Given the description of an element on the screen output the (x, y) to click on. 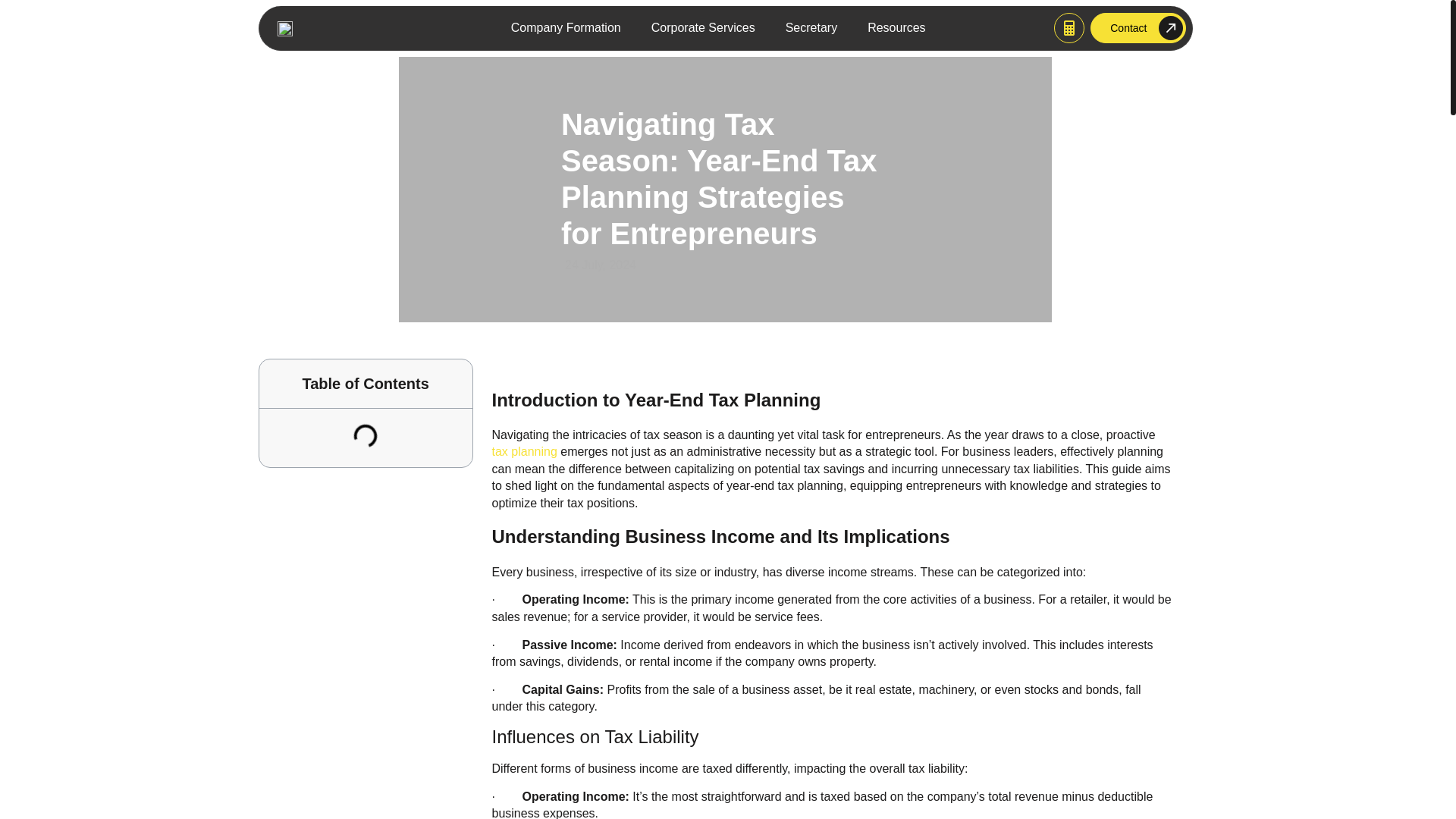
Secretary (811, 27)
Company Formation (566, 27)
Corporate Services (702, 27)
Resources (895, 27)
Contact (1137, 28)
